Given the description of an element on the screen output the (x, y) to click on. 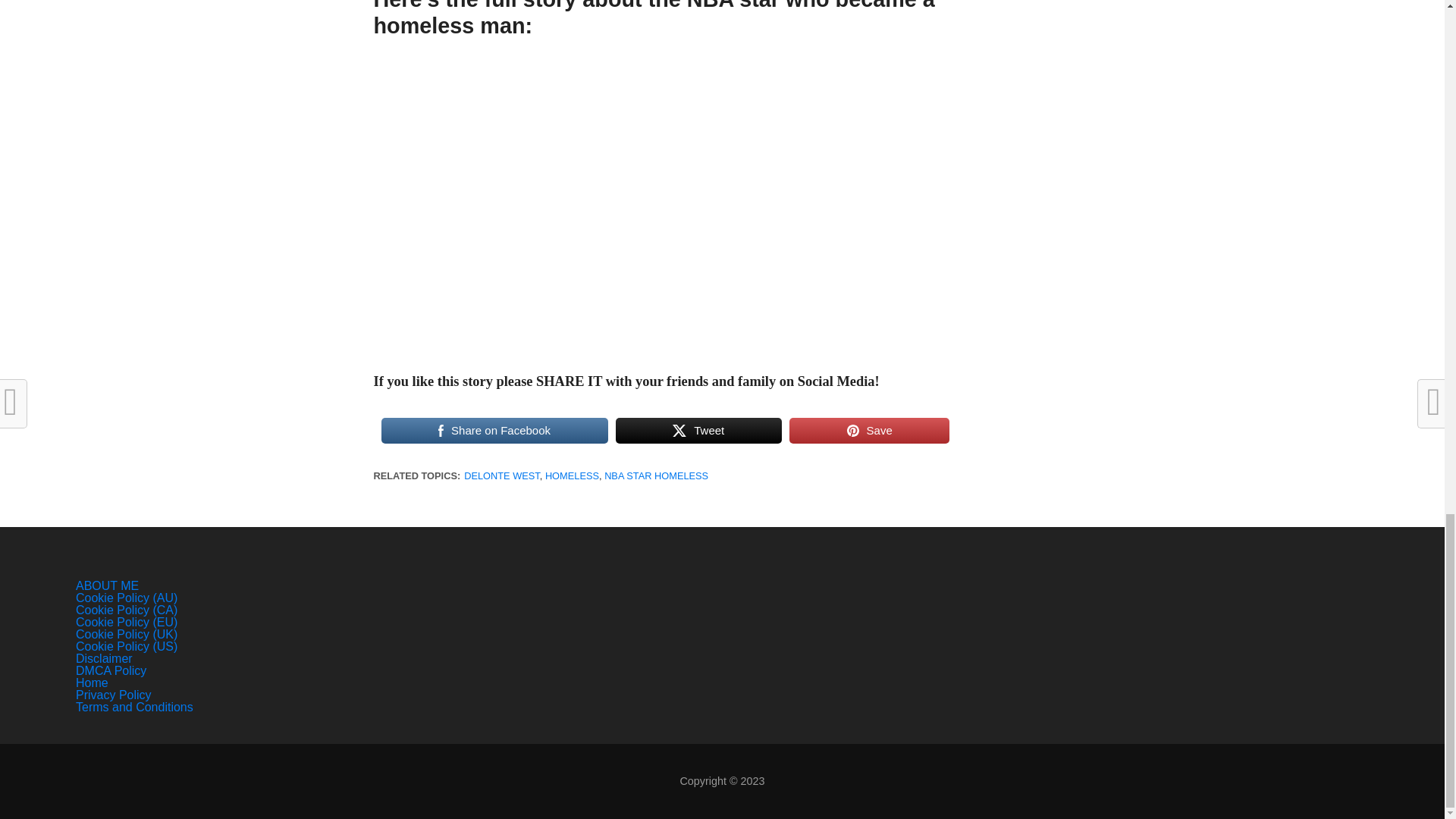
ABOUT ME (106, 585)
Tweet (698, 430)
Share on Facebook (493, 430)
HOMELESS (571, 475)
DELONTE WEST (502, 475)
Save (869, 430)
NBA STAR HOMELESS (655, 475)
